Given the description of an element on the screen output the (x, y) to click on. 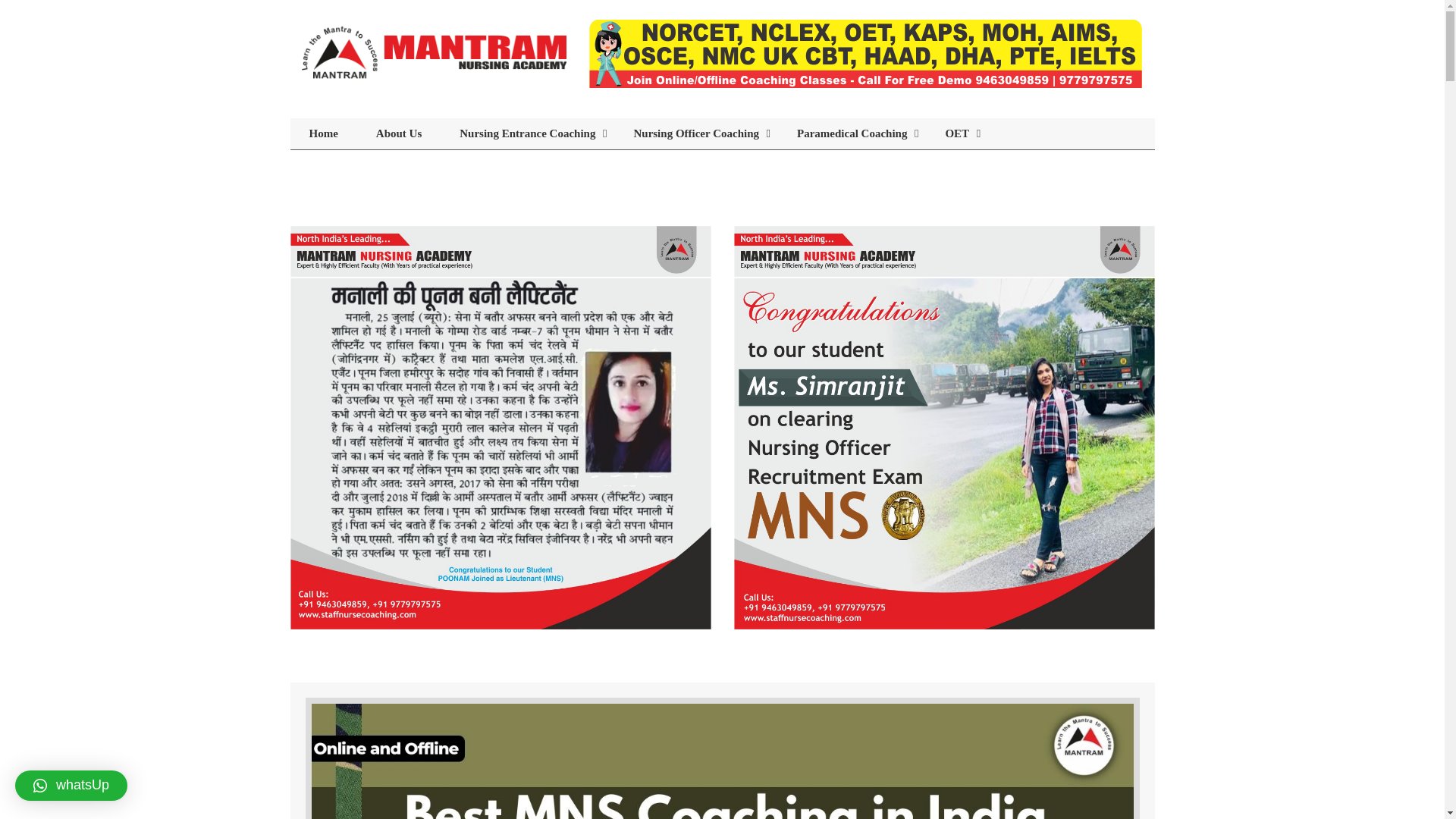
About Us (398, 133)
Paramedical Coaching (851, 133)
OET (957, 133)
Nursing Officer Coaching (695, 133)
Home (322, 133)
Nursing Entrance Coaching (527, 133)
